Given the description of an element on the screen output the (x, y) to click on. 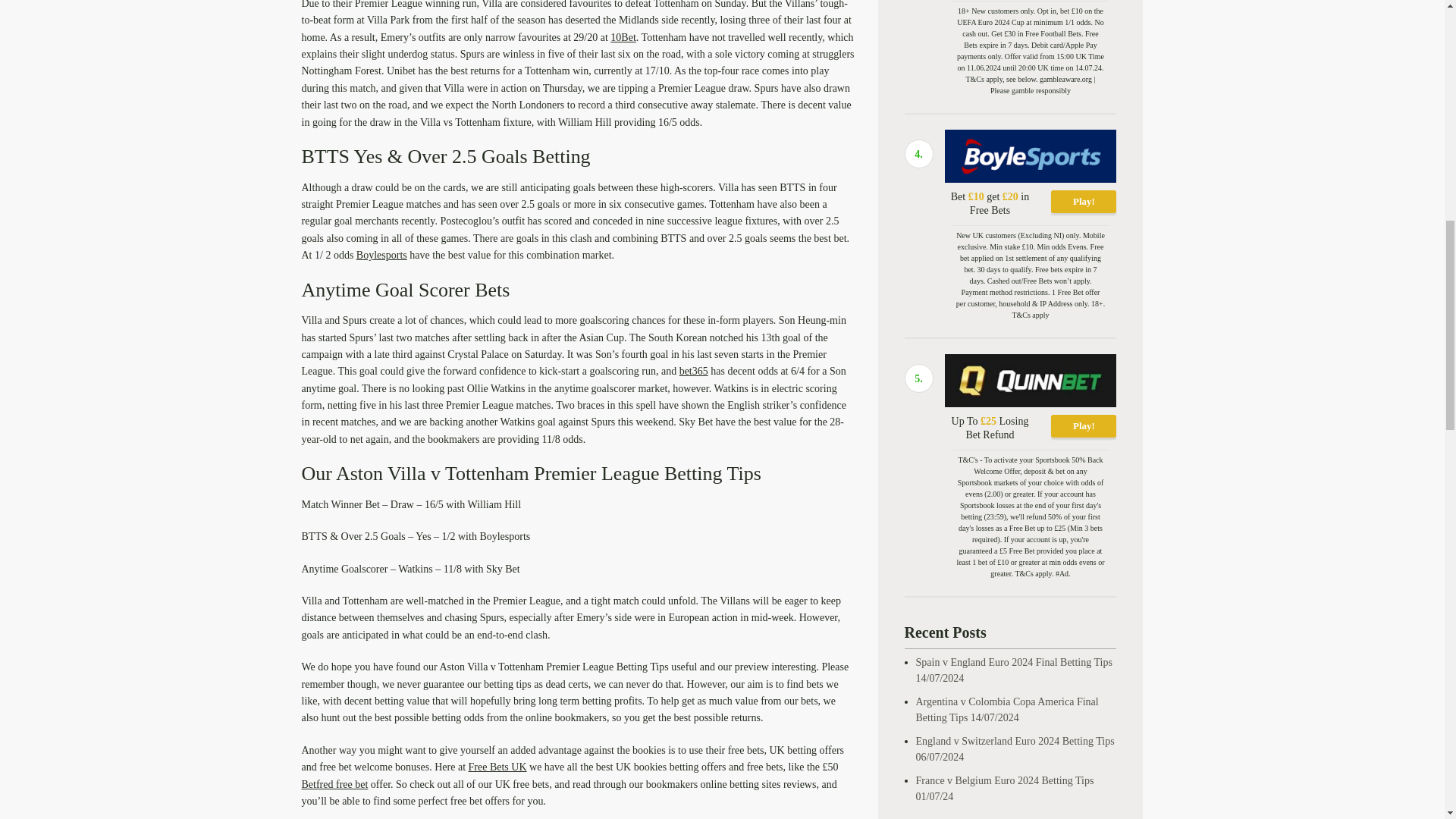
Boylesports (381, 255)
Free Bets UK (497, 767)
bet365 (693, 370)
10Bet (622, 37)
Play! (1083, 201)
Play! (1083, 425)
Betfred free bet (334, 784)
